Given the description of an element on the screen output the (x, y) to click on. 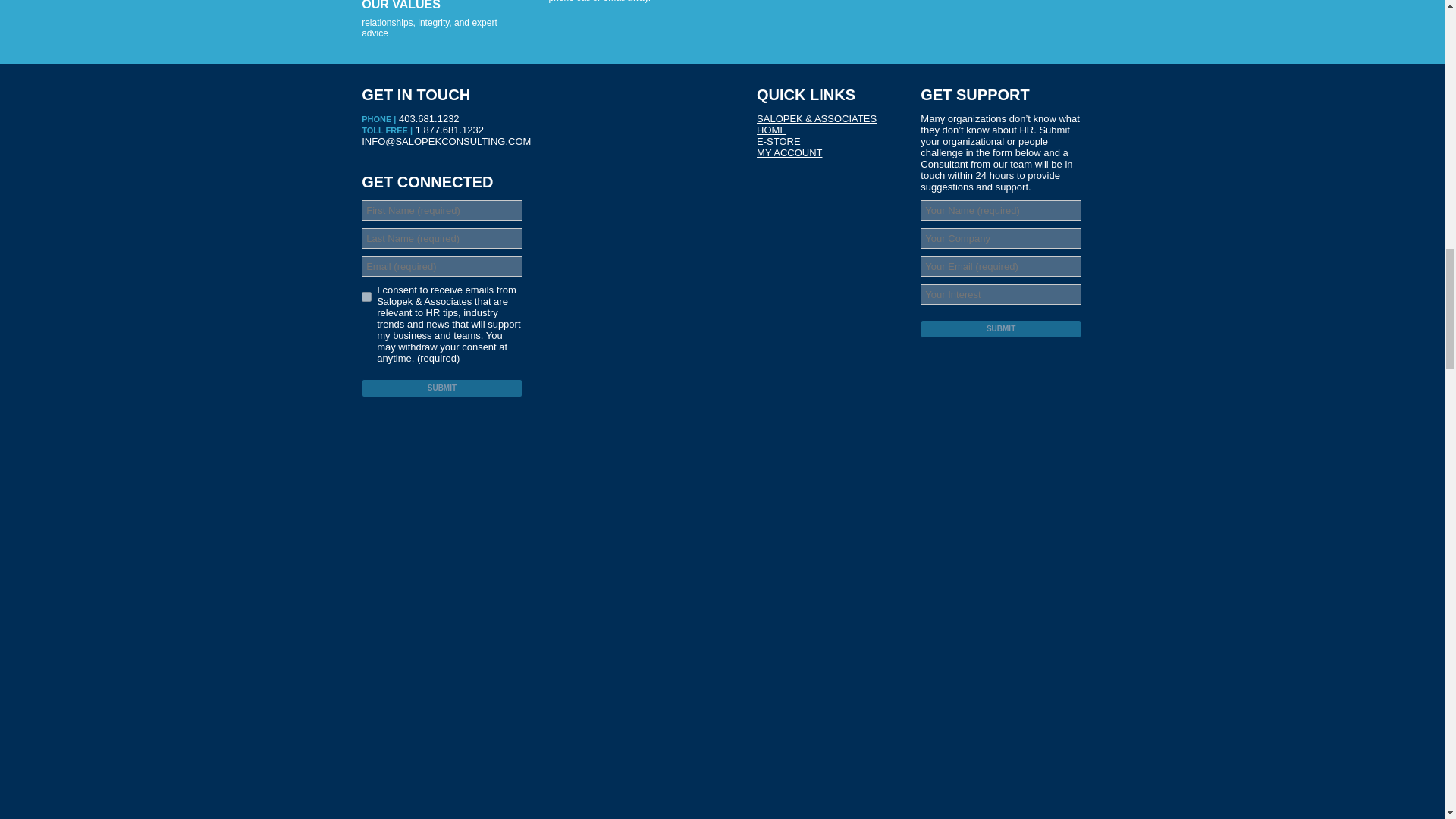
Submit (1000, 329)
I Agree (366, 296)
Submit (441, 388)
